Given the description of an element on the screen output the (x, y) to click on. 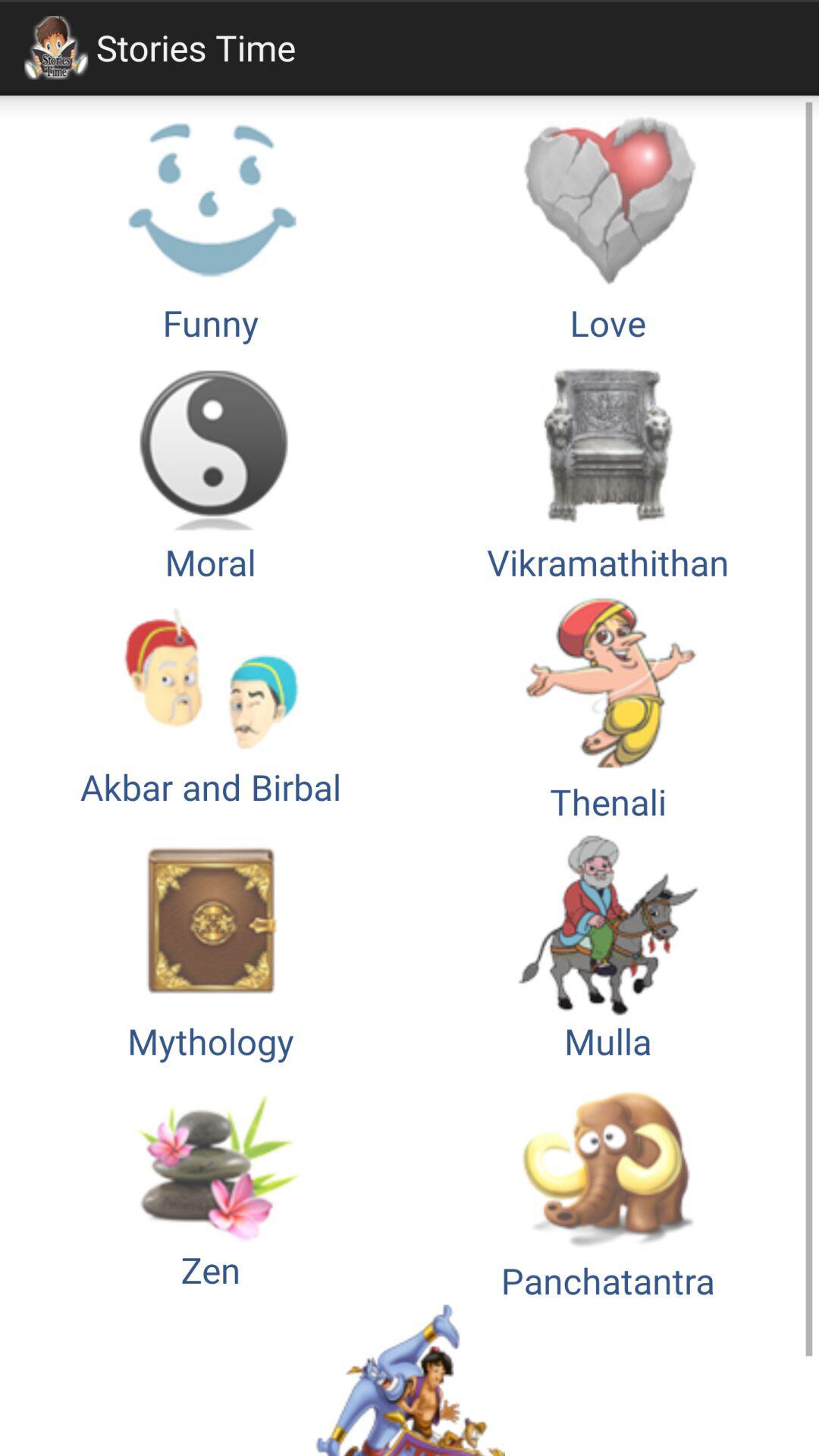
turn on button above the moral icon (210, 226)
